Given the description of an element on the screen output the (x, y) to click on. 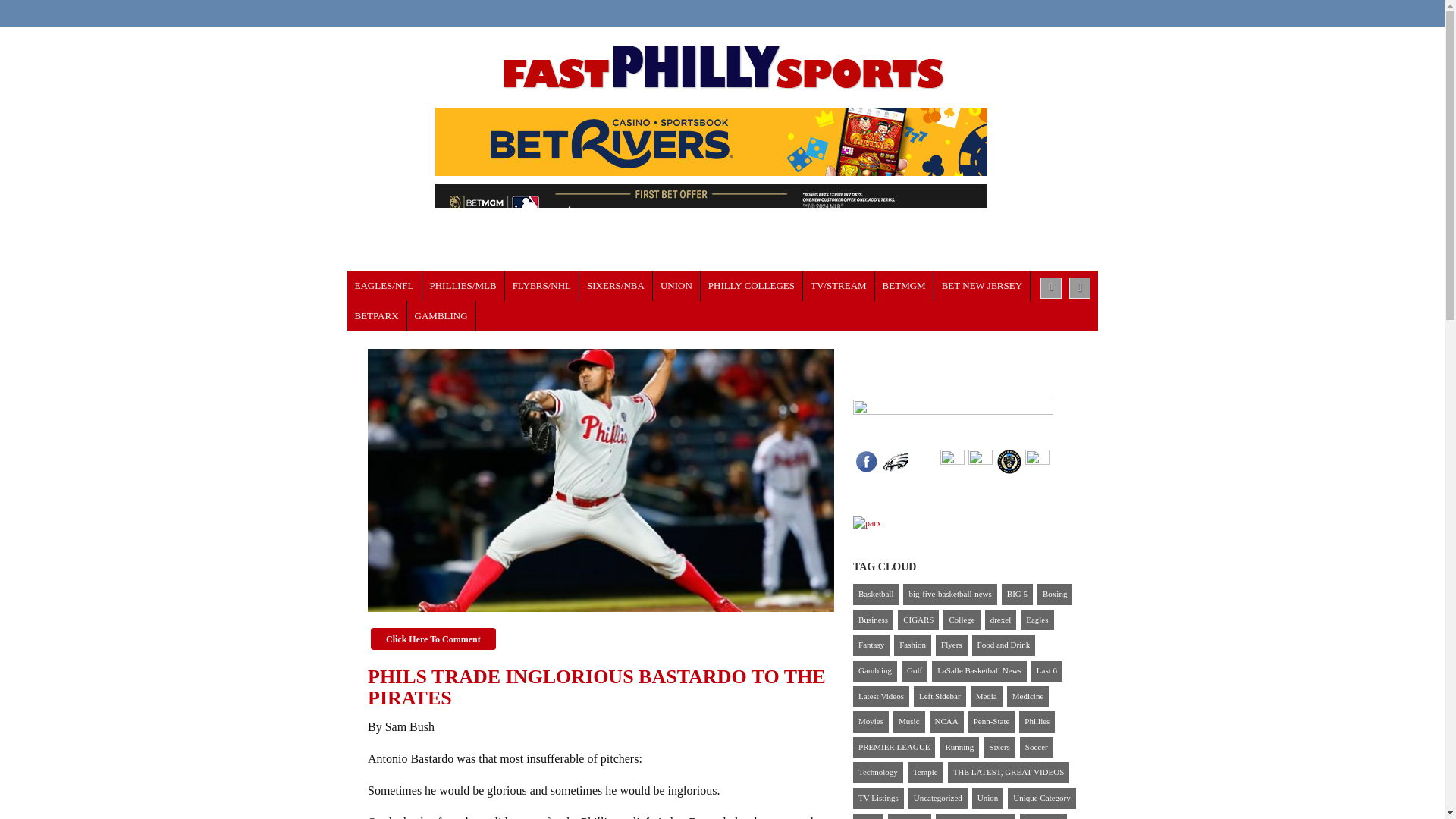
LA SALLE (751, 286)
BETMGM (904, 286)
Click Here To Comment (433, 639)
Random Article (1079, 287)
UNION (676, 286)
BETPARX (377, 316)
GAMBLING (441, 316)
PHILLY COLLEGES (751, 286)
PHILS TRADE INGLORIOUS BASTARDO TO THE PIRATES (601, 480)
BET NEW JERSEY (982, 286)
